Given the description of an element on the screen output the (x, y) to click on. 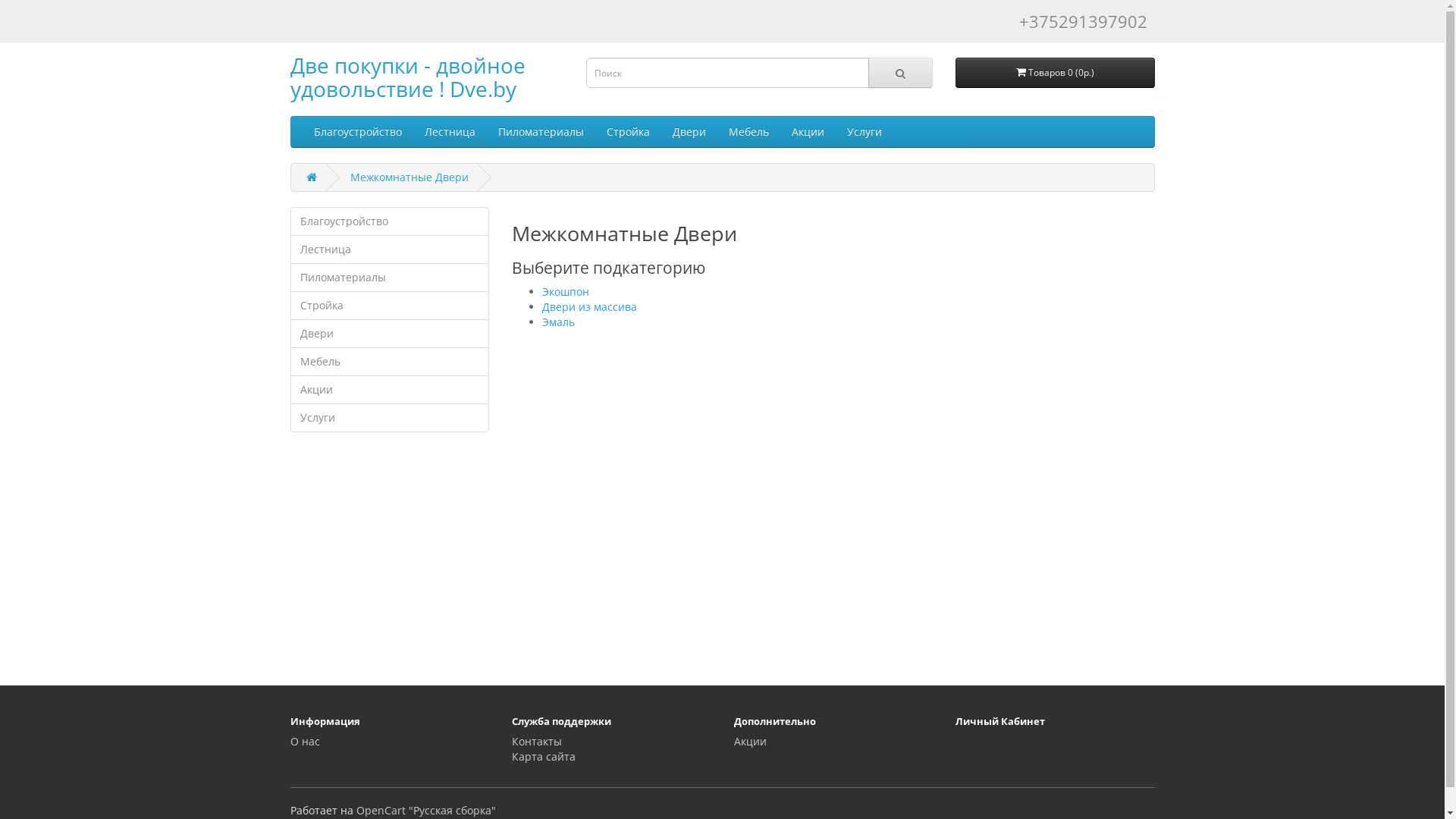
+375291397902 Element type: text (1083, 20)
